Given the description of an element on the screen output the (x, y) to click on. 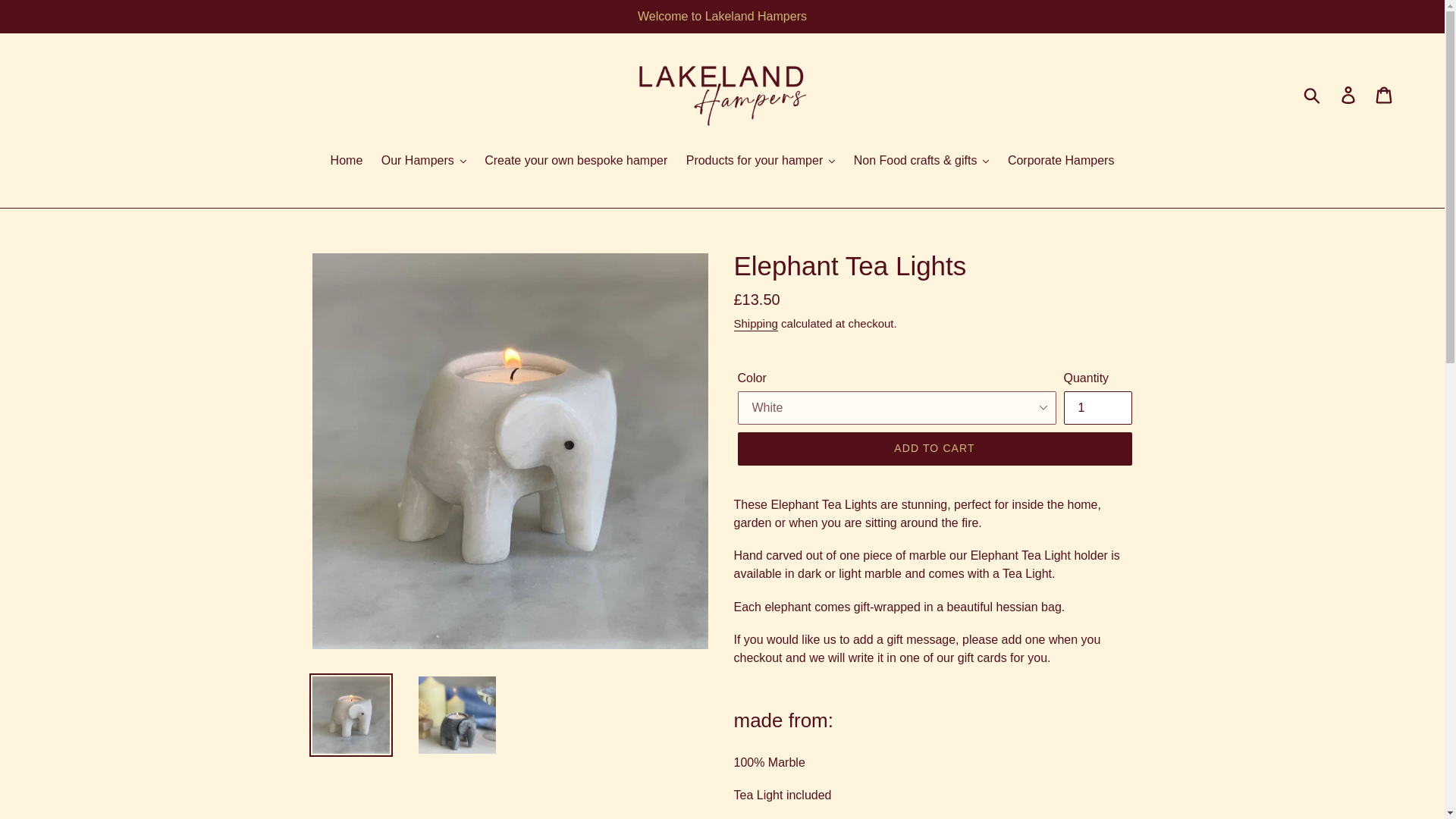
Submit (1313, 93)
Log in (1349, 93)
Cart (1385, 93)
1 (1096, 408)
